Given the description of an element on the screen output the (x, y) to click on. 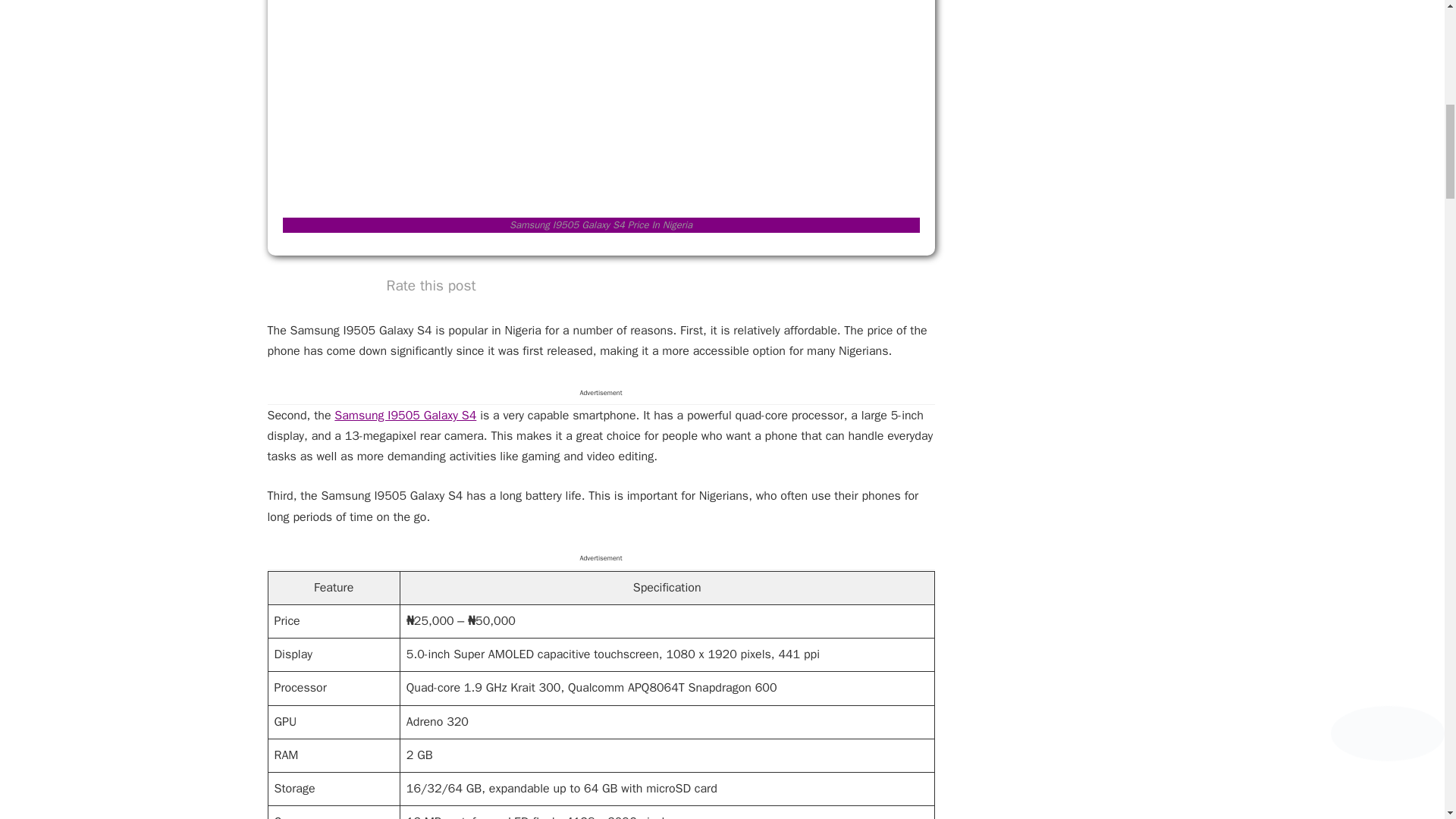
Samsung I9505 Galaxy S4 (405, 415)
